Given the description of an element on the screen output the (x, y) to click on. 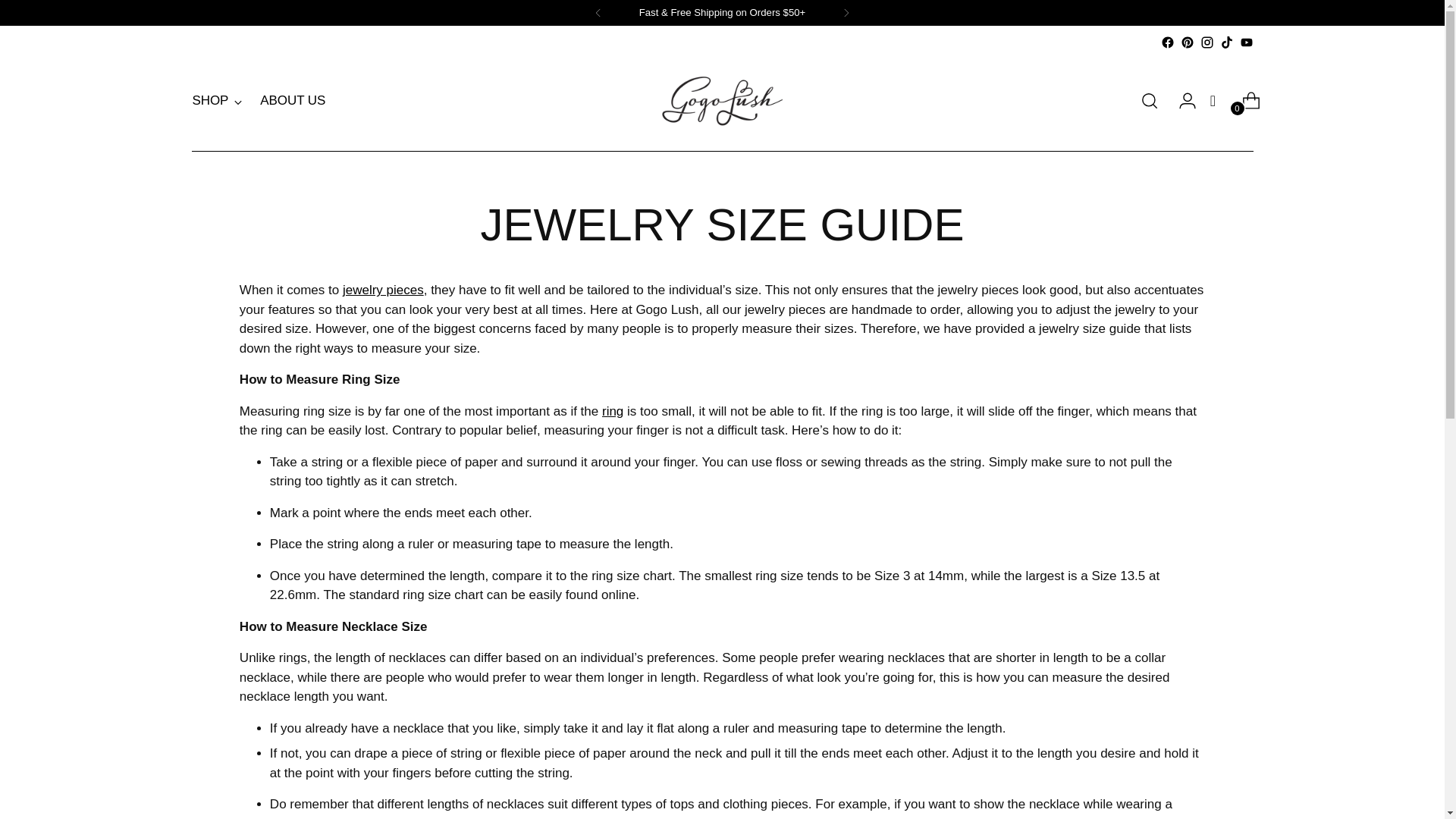
Gogo Lush on Tiktok (1226, 42)
Previous (597, 12)
Gogo Lush on Facebook (1166, 42)
Gogo Lush on Instagram (1205, 42)
Gogo Lush on YouTube (1245, 42)
SHOP (217, 100)
ABOUT US (292, 100)
Next (846, 12)
Gogo Lush on Pinterest (1186, 42)
